Given the description of an element on the screen output the (x, y) to click on. 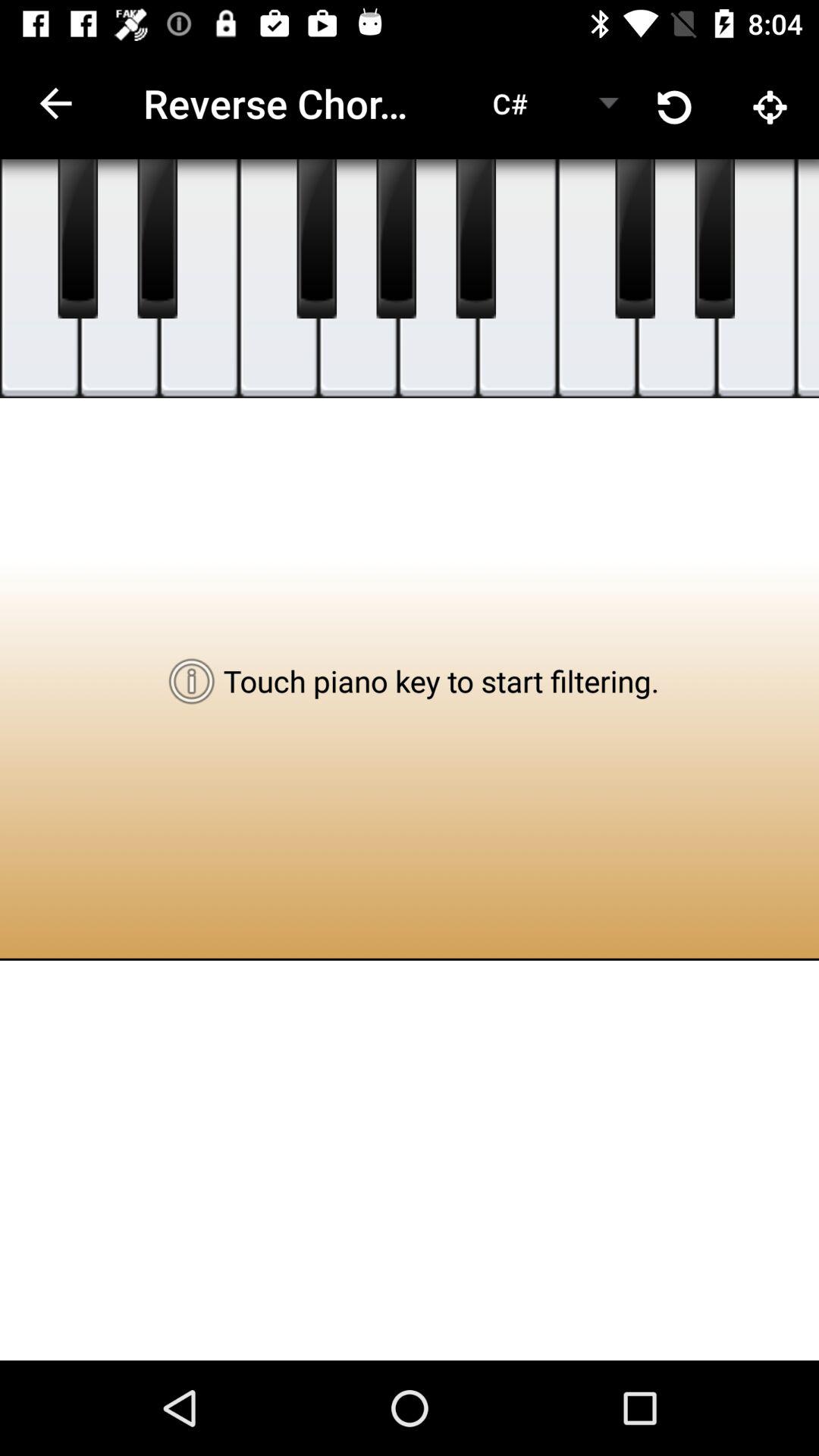
filter option (77, 238)
